Given the description of an element on the screen output the (x, y) to click on. 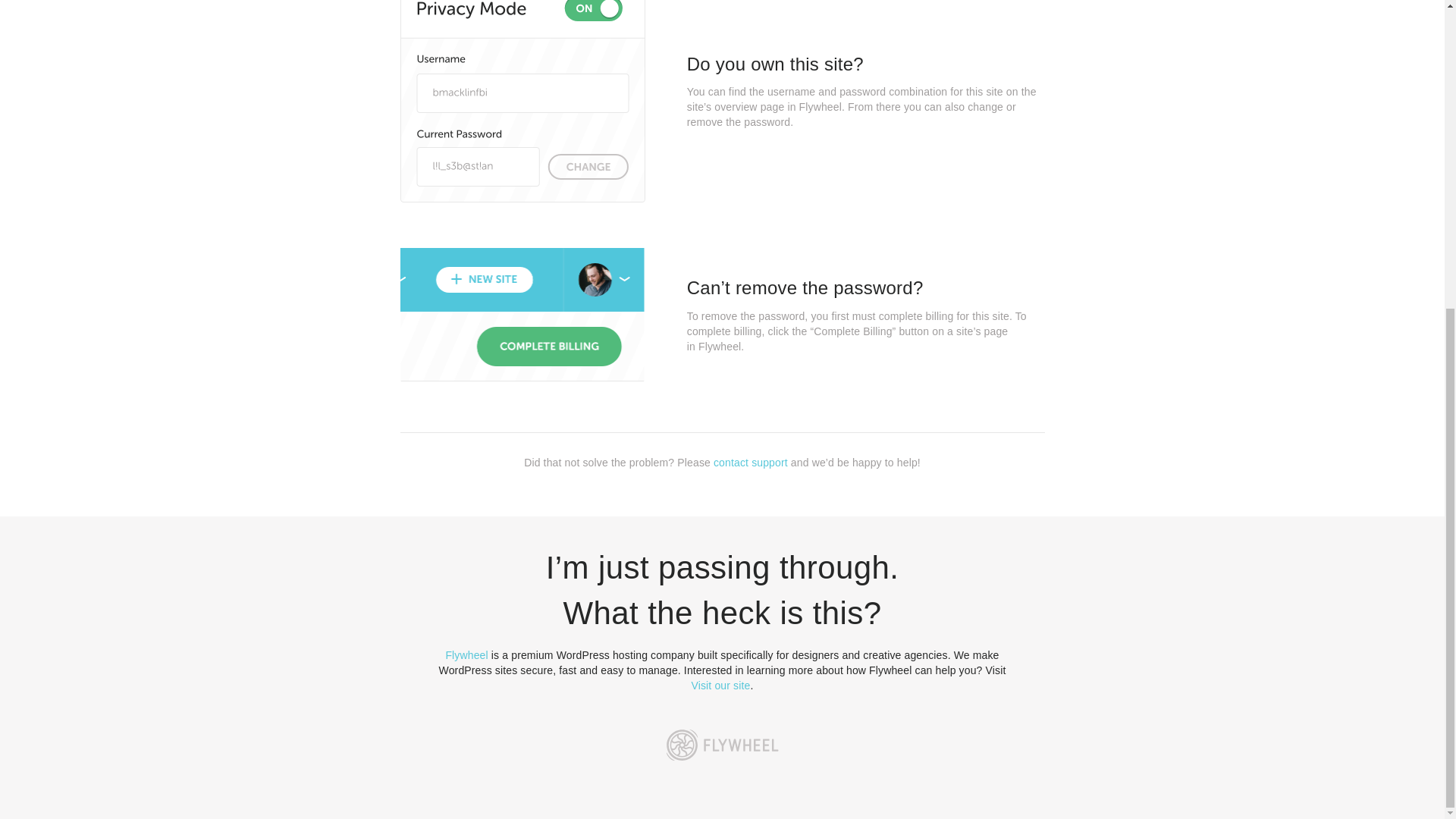
contact support (750, 462)
Visit our site (721, 685)
Flywheel (466, 654)
